Given the description of an element on the screen output the (x, y) to click on. 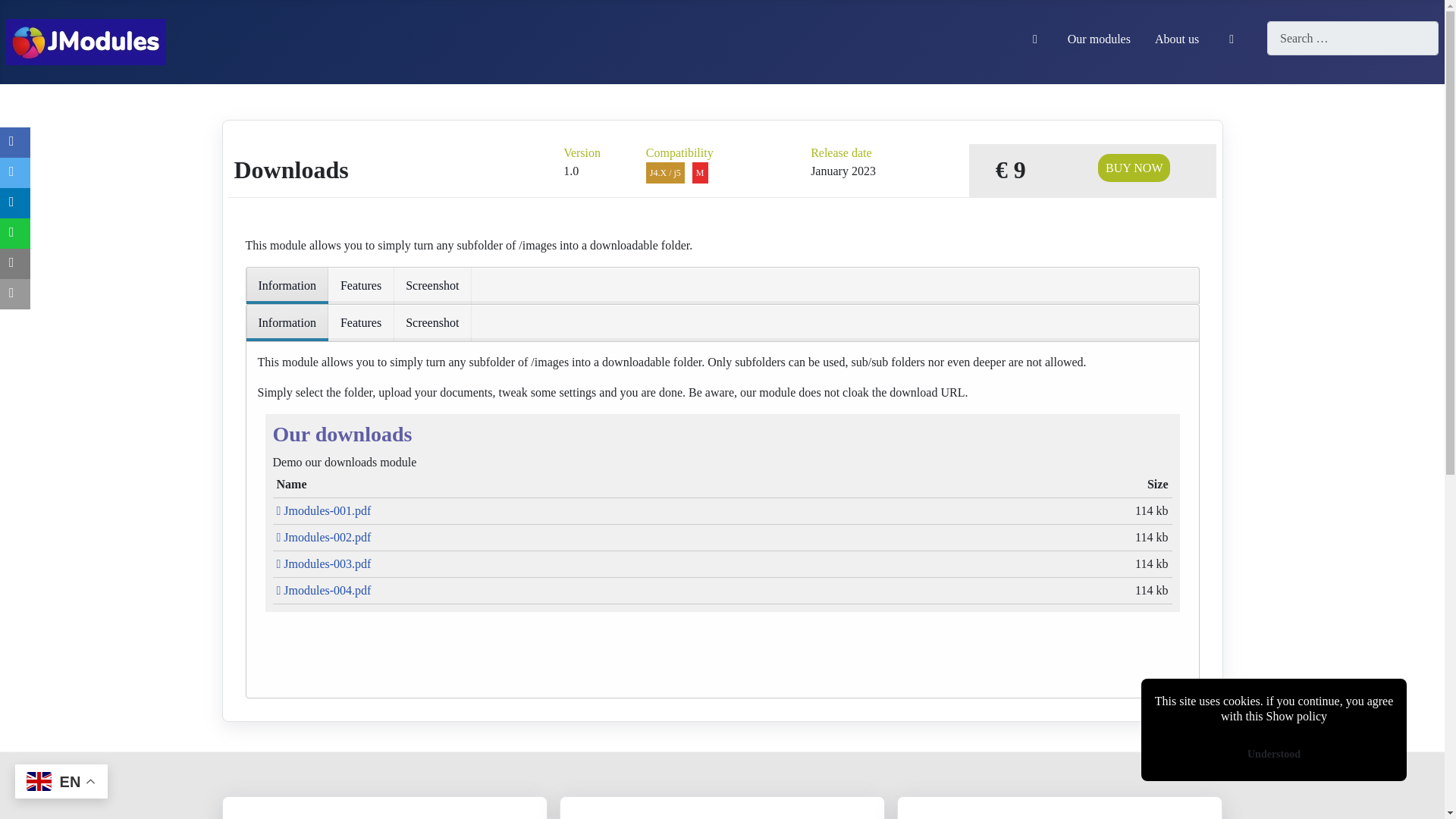
Features (361, 322)
Jmodules-002.pdf (323, 536)
Screenshot (431, 322)
Jmodules-004.pdf (323, 590)
About us (1176, 39)
Jmodules-001.pdf (323, 510)
Information (286, 285)
Information (286, 322)
Jmodules-003.pdf (323, 563)
Screenshot (431, 285)
BUY NOW (1133, 167)
Features (361, 285)
Our modules (1099, 39)
